Given the description of an element on the screen output the (x, y) to click on. 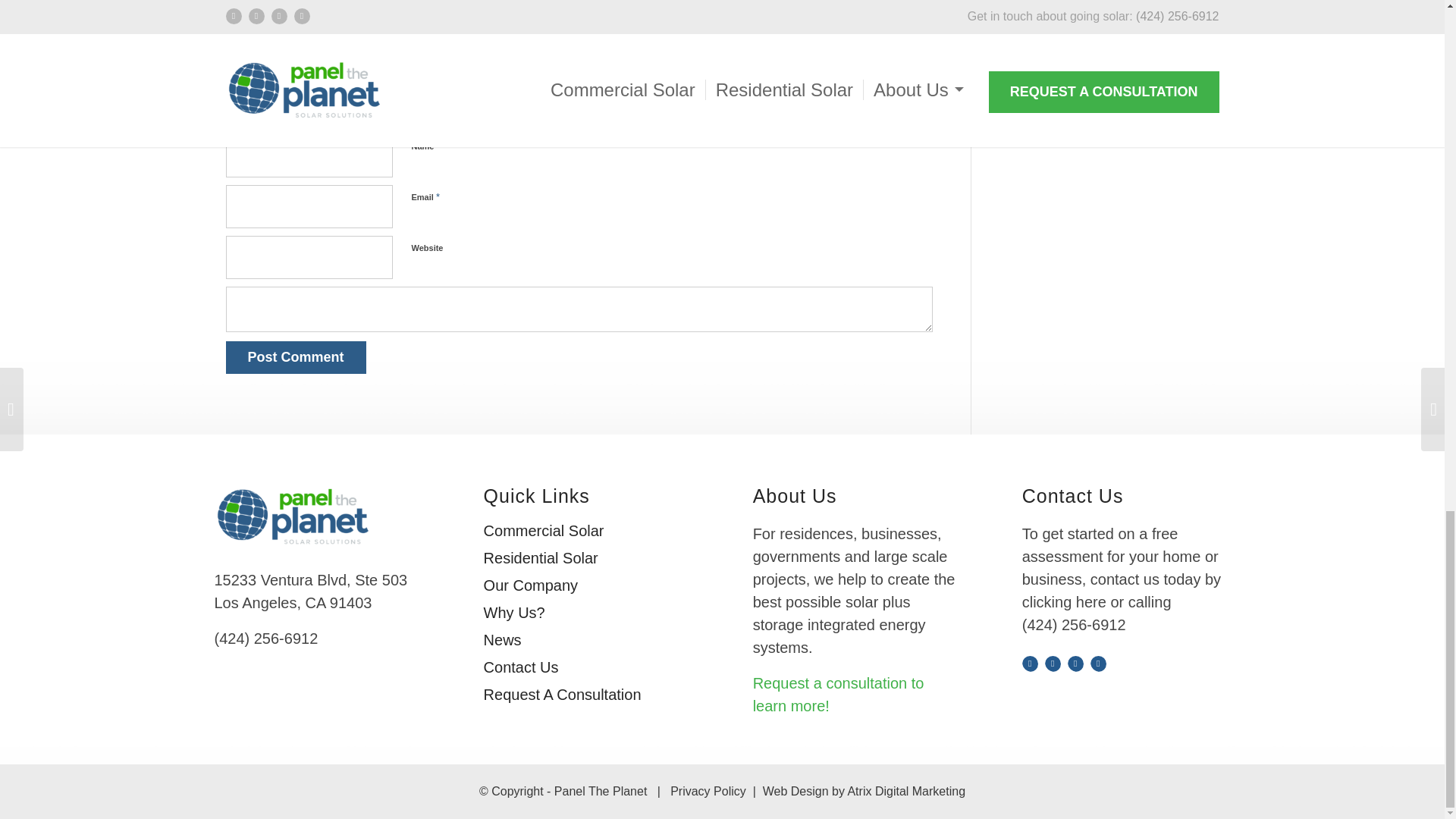
Post Comment (295, 357)
Post Comment (295, 357)
